Given the description of an element on the screen output the (x, y) to click on. 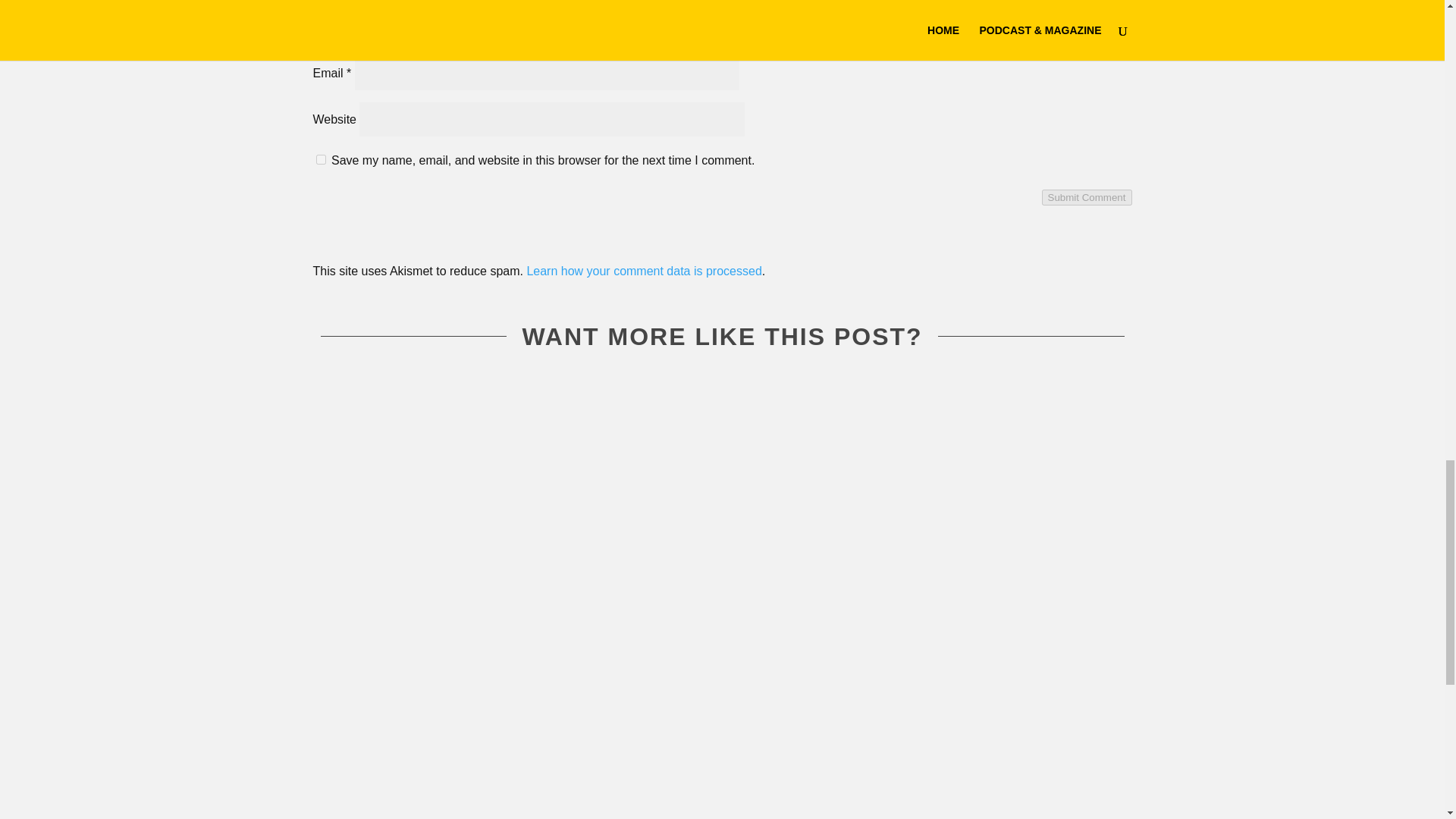
Learn how your comment data is processed (643, 270)
Submit Comment (1087, 197)
yes (319, 159)
